Given the description of an element on the screen output the (x, y) to click on. 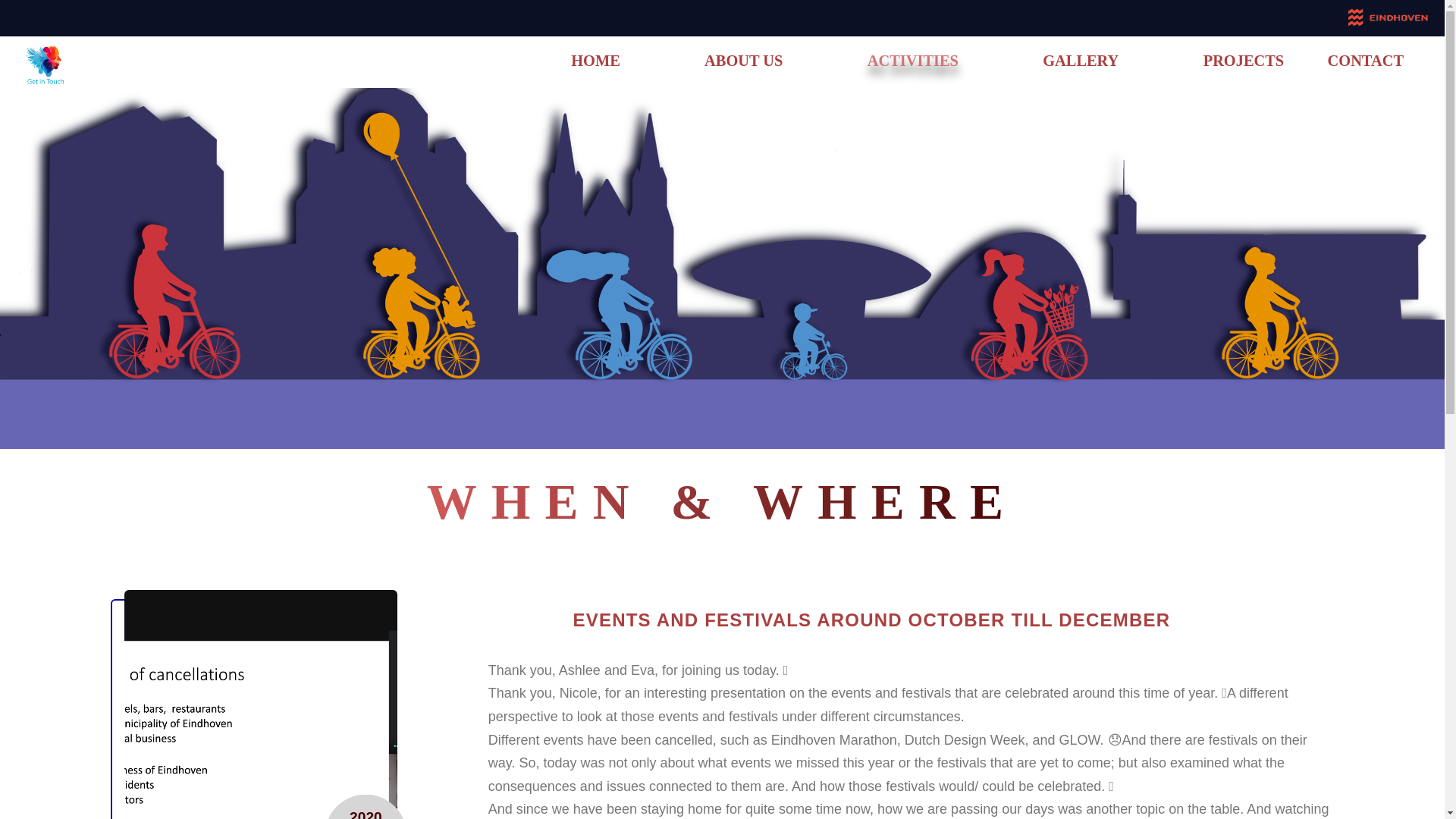
ACTIVITIES (912, 60)
HOME (595, 60)
GALLERY (1080, 60)
CONTACT (1365, 60)
PROJECTS (1244, 60)
ABOUT US (743, 60)
